Given the description of an element on the screen output the (x, y) to click on. 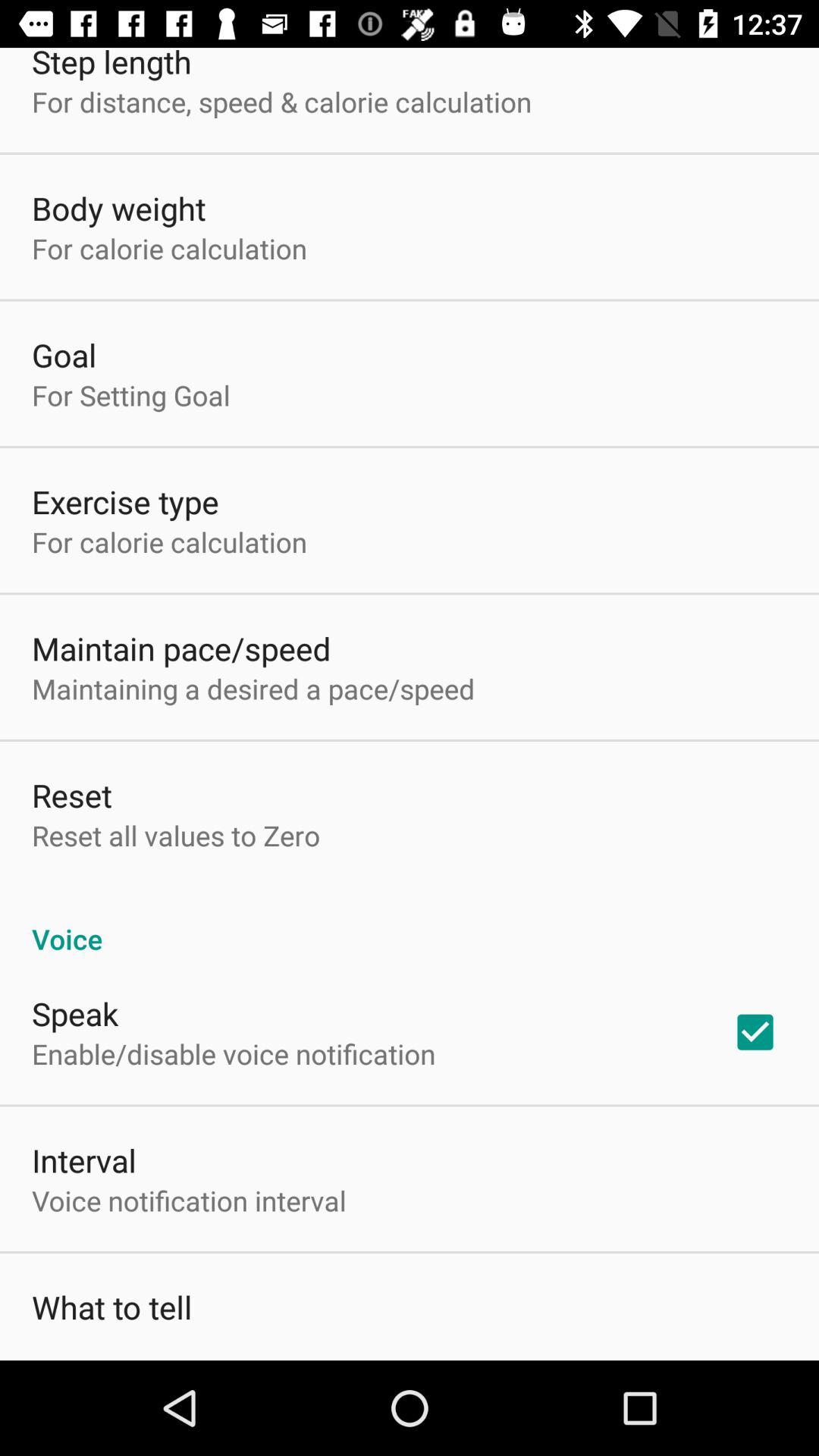
open the checkbox at the bottom right corner (755, 1032)
